Given the description of an element on the screen output the (x, y) to click on. 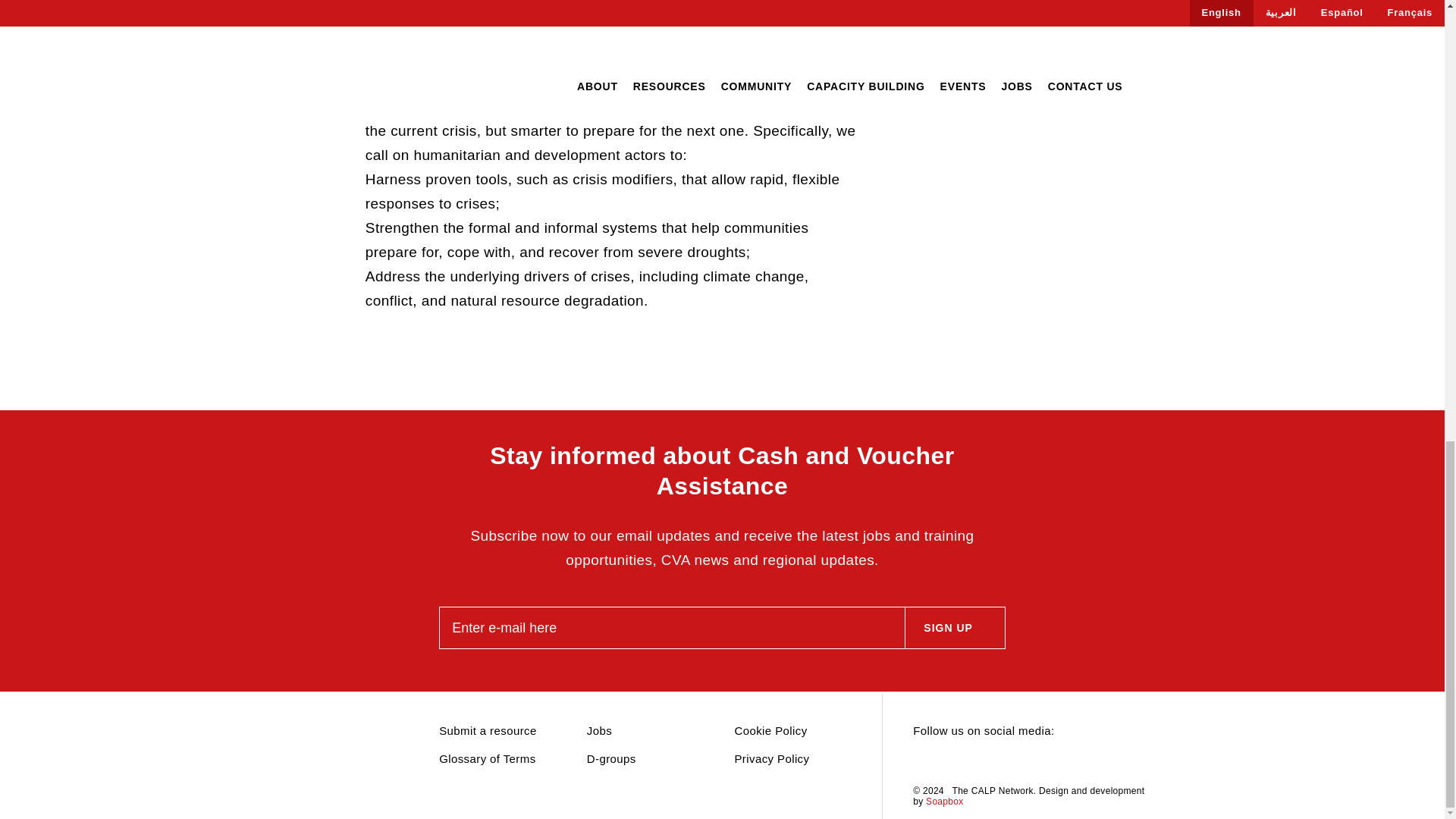
Twitter (920, 761)
YouTube (1001, 761)
LinkedIn (947, 761)
Facebook (973, 761)
